Given the description of an element on the screen output the (x, y) to click on. 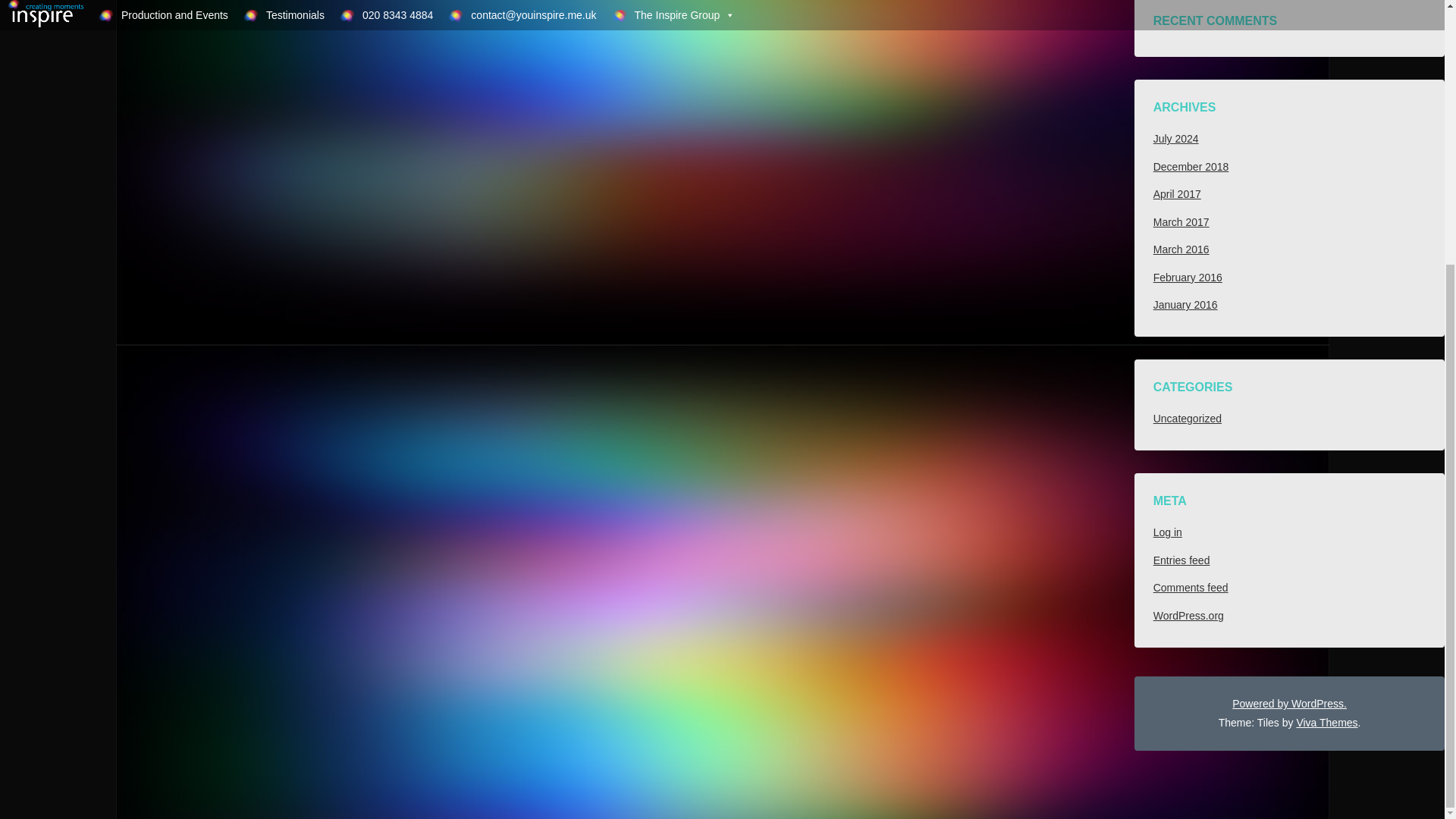
July 2024 (1175, 138)
April 2017 (1177, 193)
January 2016 (1185, 304)
Log in (1167, 532)
Powered by WordPress. (1288, 703)
December 2018 (1190, 166)
Uncategorized (1187, 418)
Viva Themes (1325, 722)
Comments feed (1190, 587)
February 2016 (1188, 277)
